Given the description of an element on the screen output the (x, y) to click on. 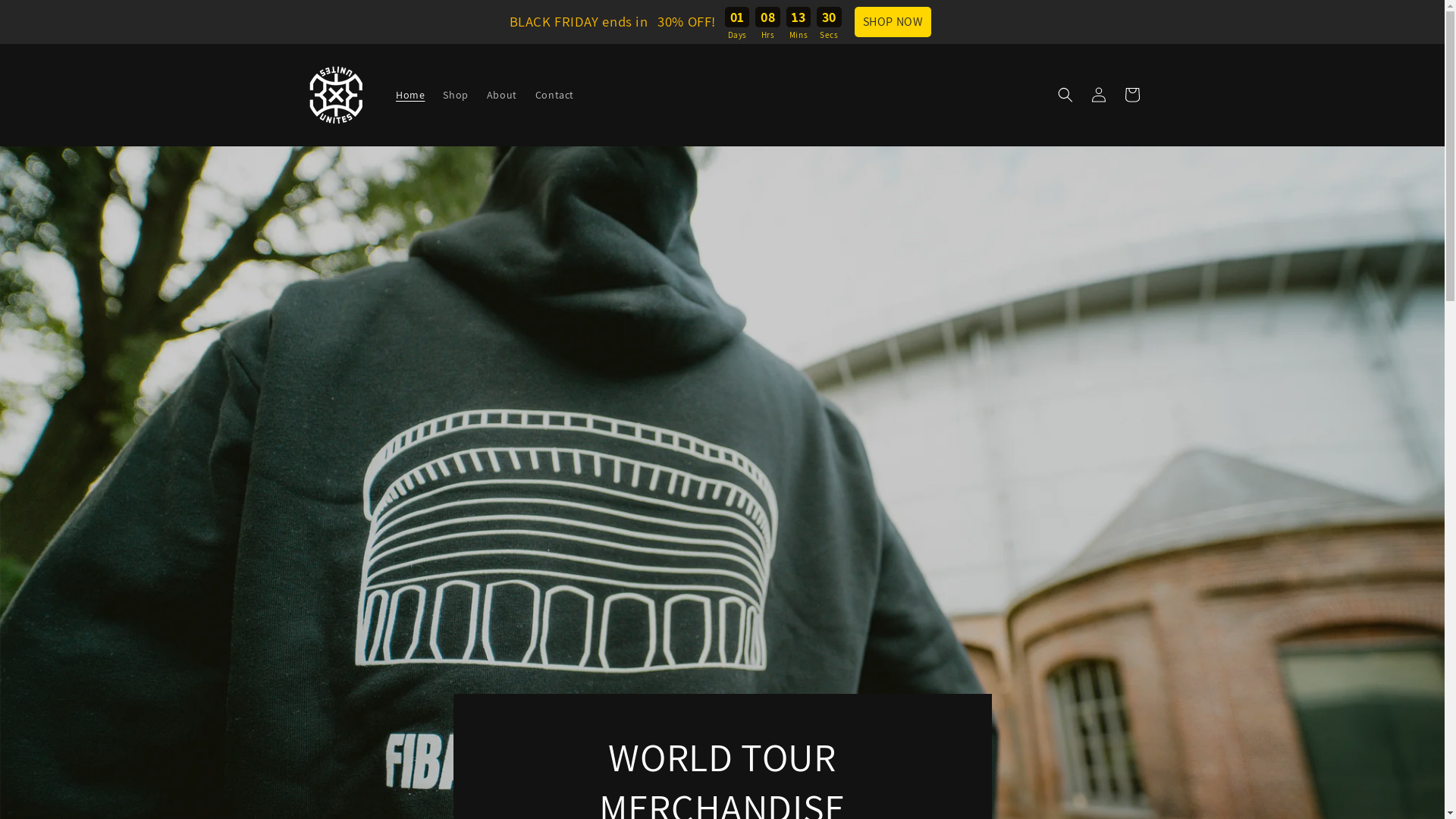
Home Element type: text (409, 94)
Contact Element type: text (554, 94)
About Element type: text (501, 94)
Cart Element type: text (1131, 94)
SHOP NOW Element type: text (892, 21)
Shop Element type: text (454, 94)
Log in Element type: text (1097, 94)
